Given the description of an element on the screen output the (x, y) to click on. 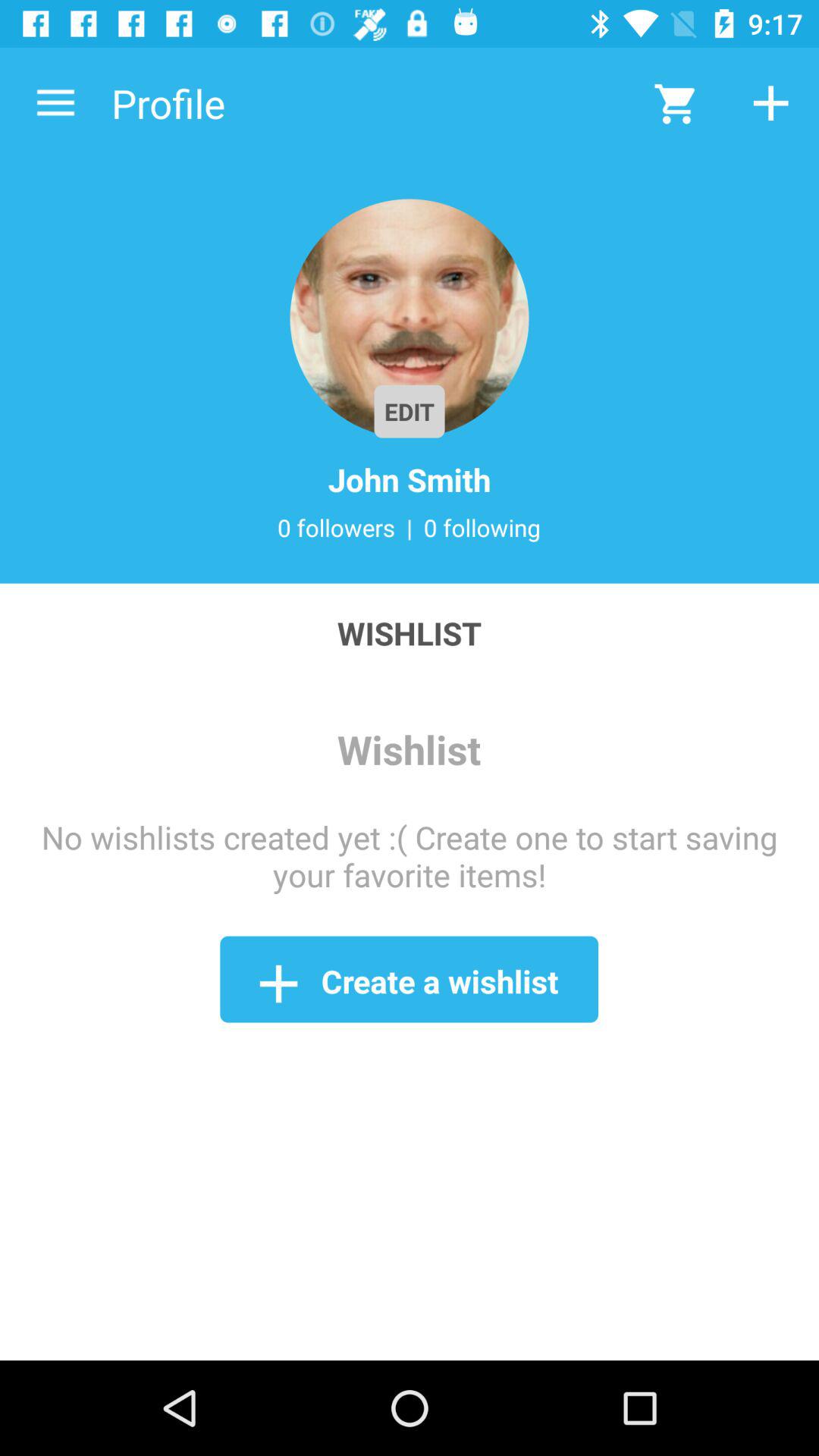
turn on the item to the left of the   |   item (336, 527)
